Given the description of an element on the screen output the (x, y) to click on. 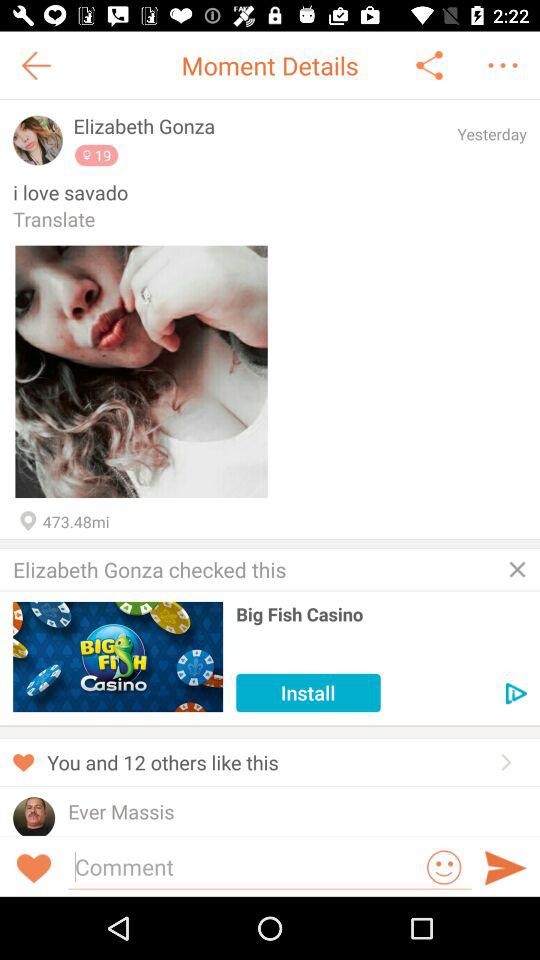
jump to ever massis icon (121, 811)
